Given the description of an element on the screen output the (x, y) to click on. 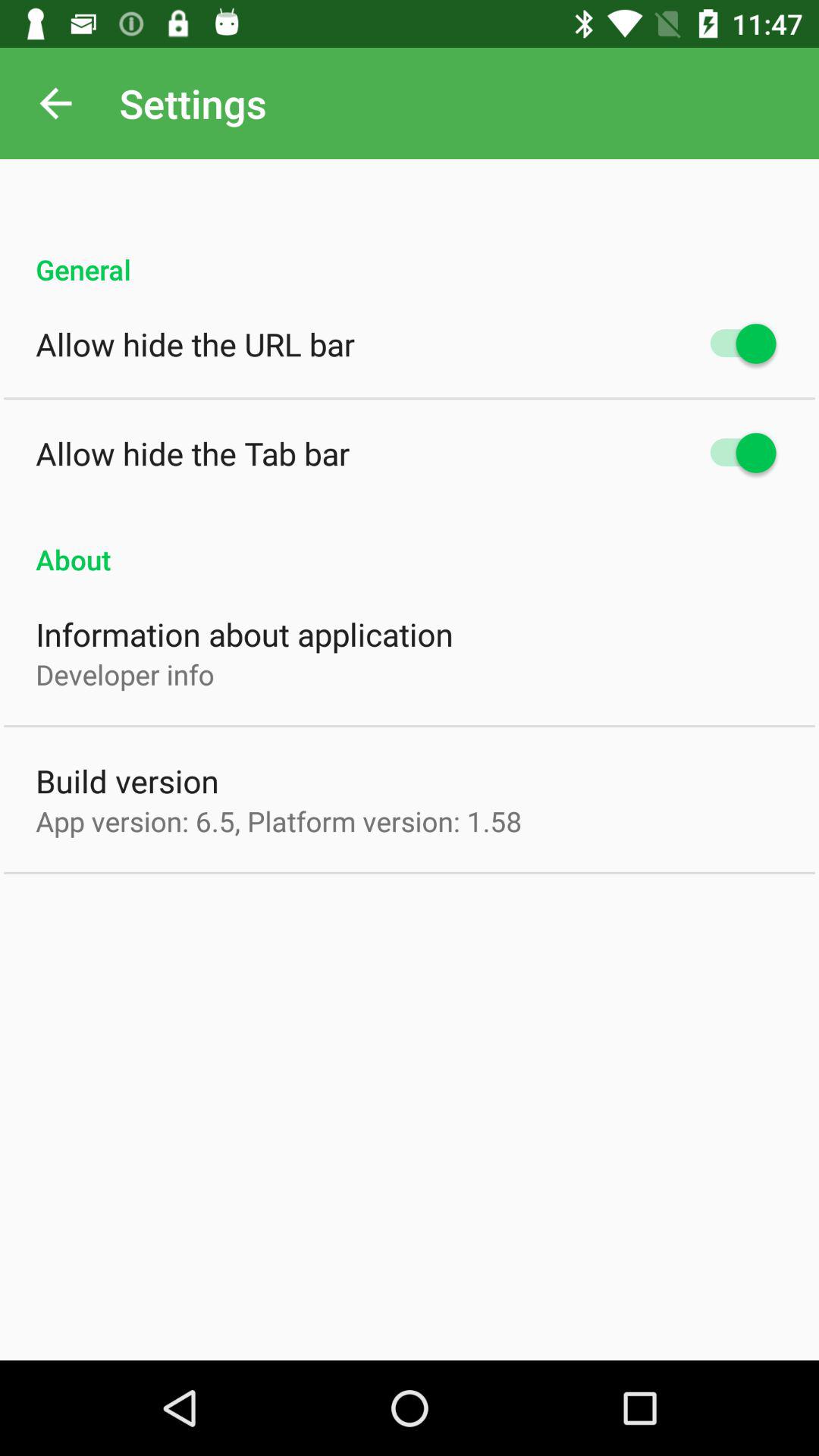
turn on the item below about (244, 633)
